Given the description of an element on the screen output the (x, y) to click on. 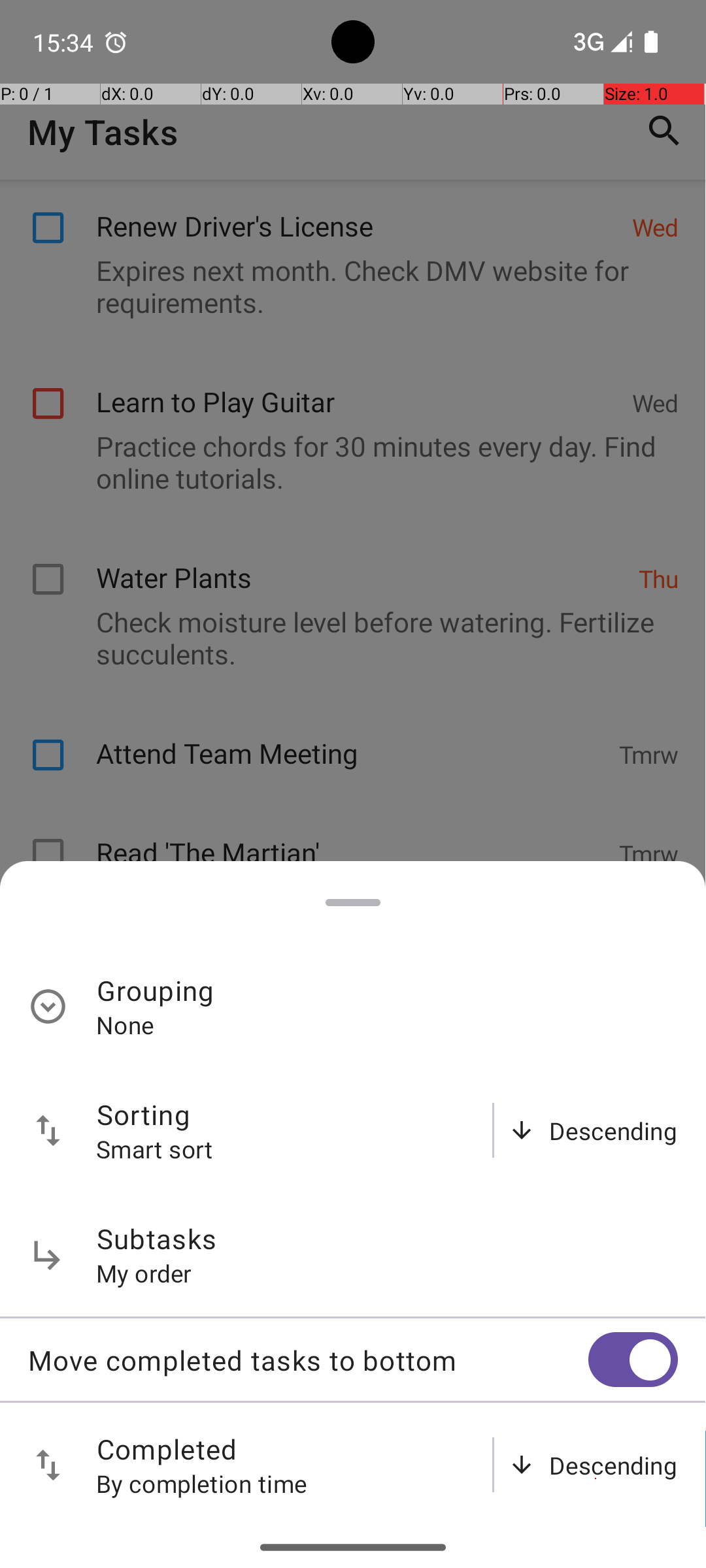
My order Element type: android.widget.TextView (144, 1273)
Completed Element type: android.widget.TextView (166, 1448)
By completion time Element type: android.widget.TextView (201, 1483)
